Given the description of an element on the screen output the (x, y) to click on. 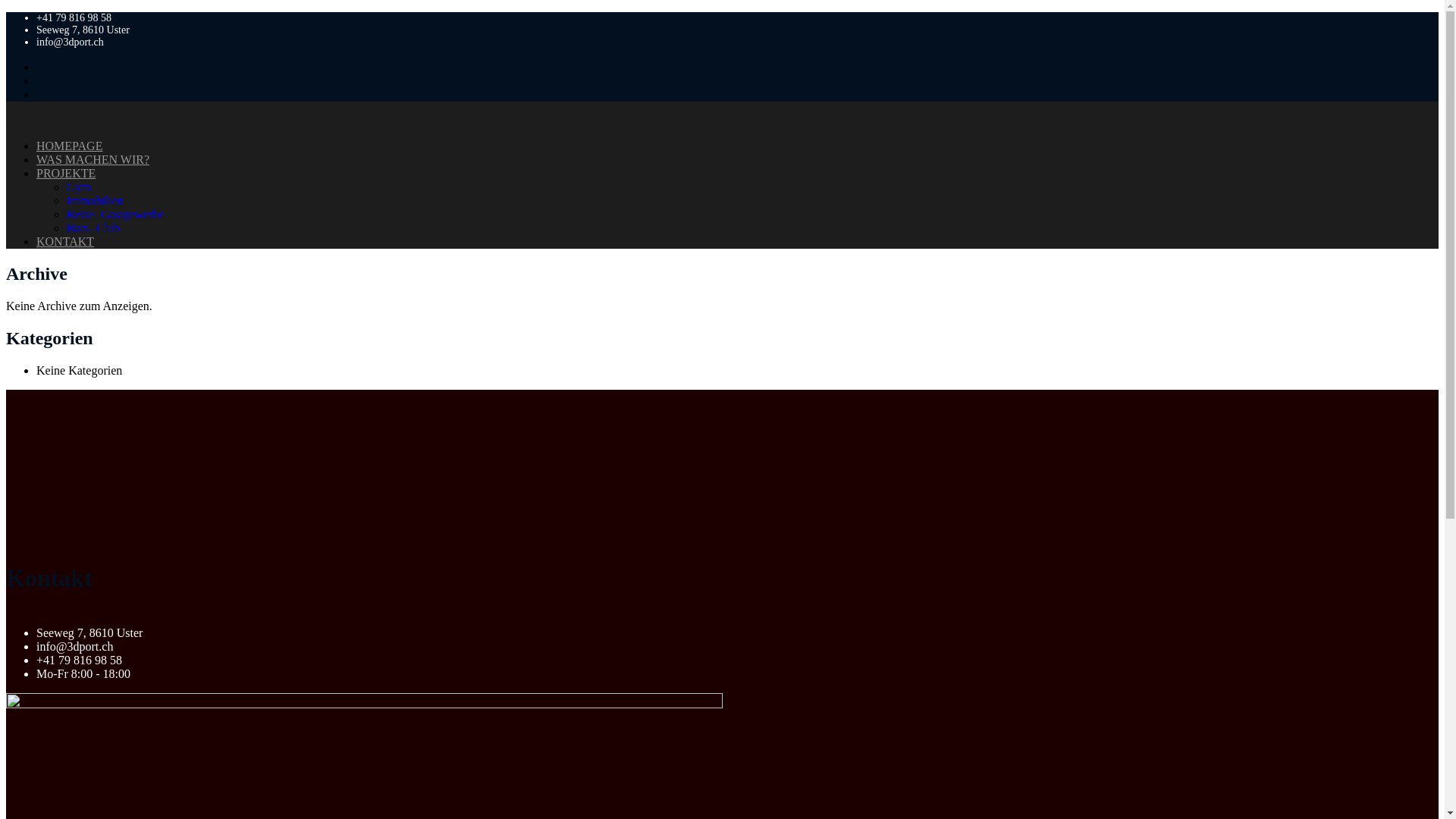
Reise- Gastgewerbe Element type: text (114, 213)
WAS MACHEN WIR? Element type: text (92, 159)
Bars- Club Element type: text (92, 227)
Gym Element type: text (78, 186)
Immobilien Element type: text (94, 200)
KONTAKT Element type: text (65, 241)
PROJEKTE Element type: text (65, 172)
HOMEPAGE Element type: text (69, 145)
